Given the description of an element on the screen output the (x, y) to click on. 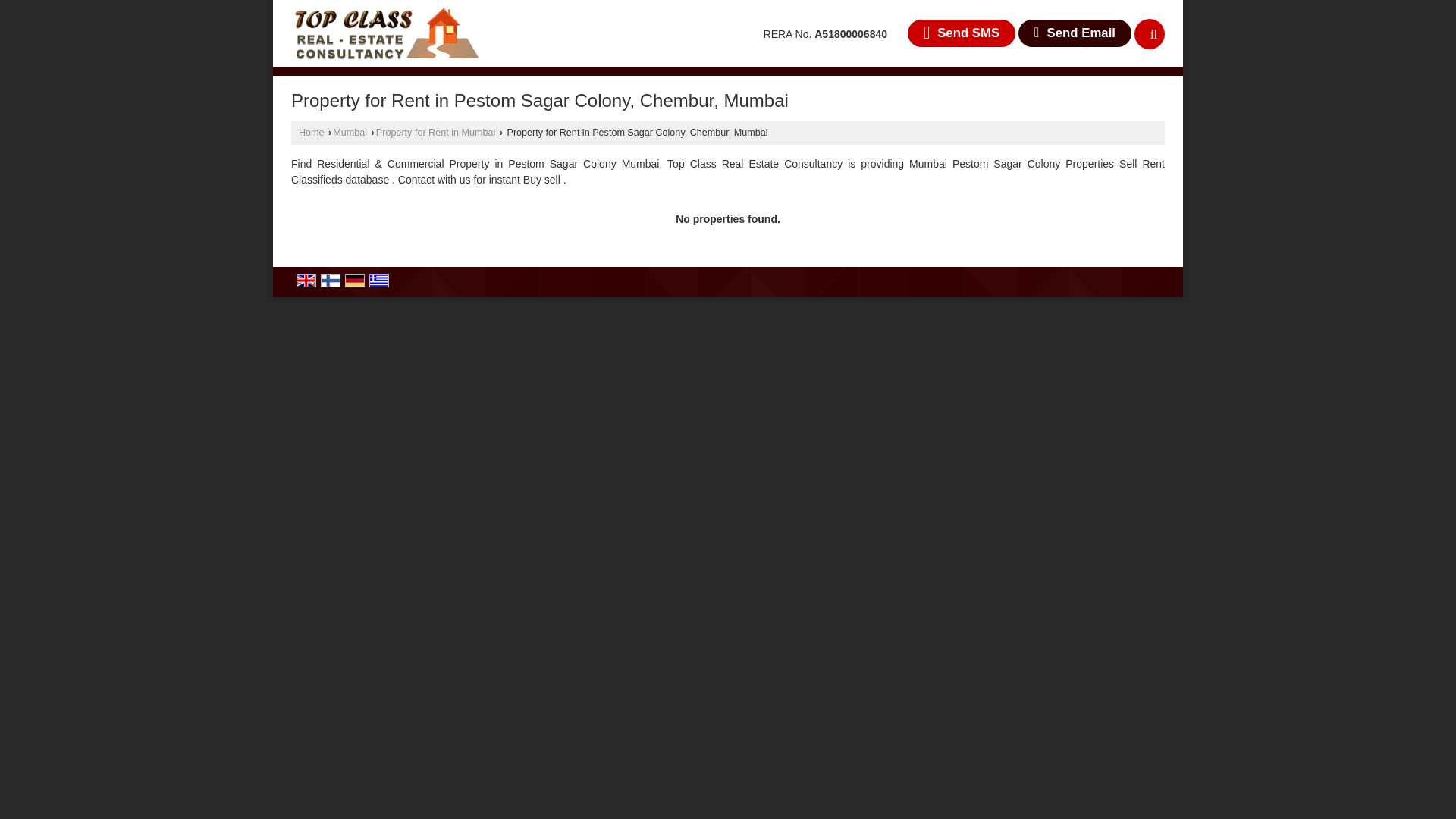
Top Class Real Estate Consultancy (385, 32)
